Given the description of an element on the screen output the (x, y) to click on. 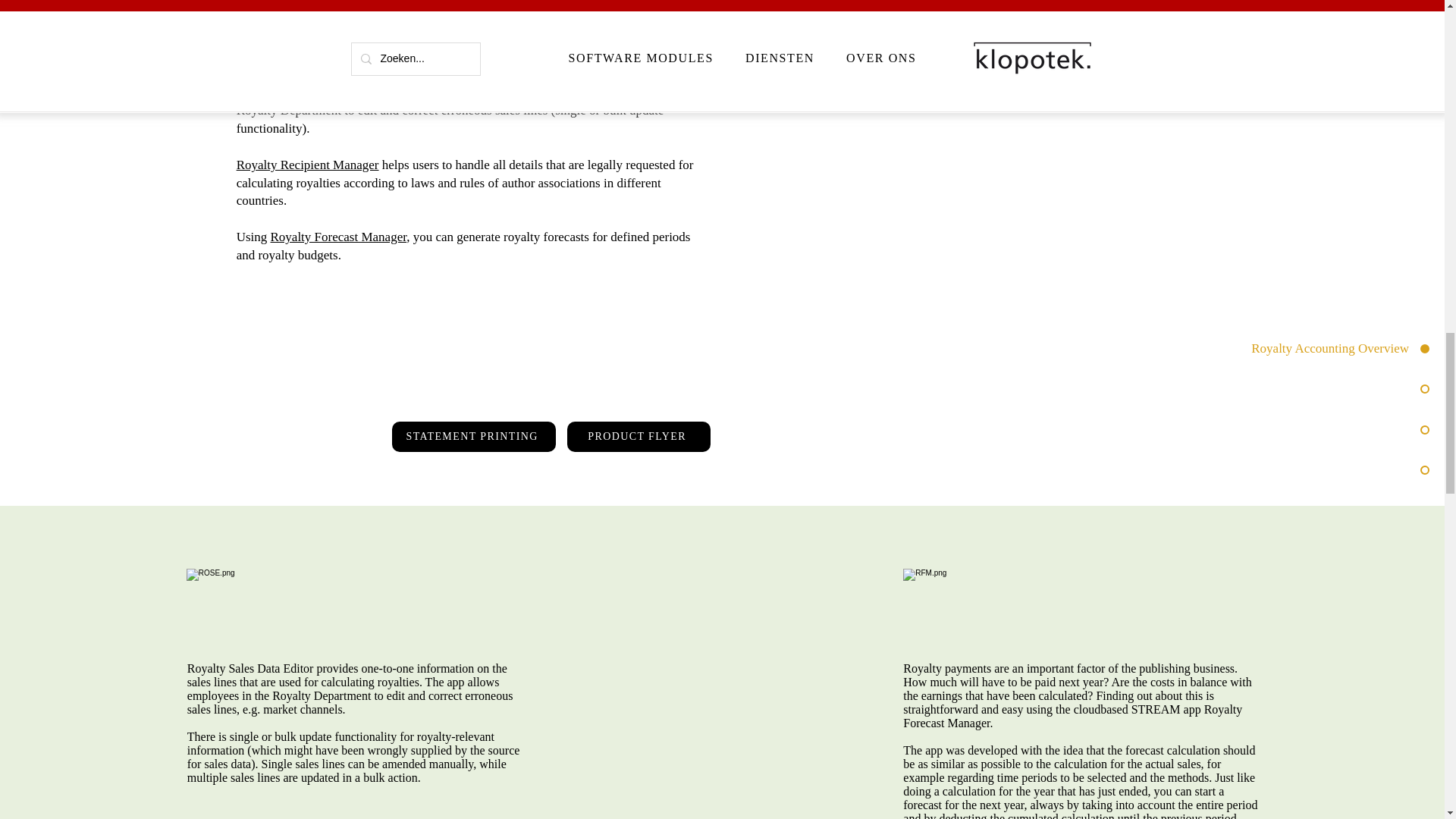
Royalty Recipient Manager (306, 164)
PRODUCT FLYER (638, 436)
Royalty Sales Data Editor (502, 92)
STATEMENT PRINTING (473, 436)
Royalty Forecast Manager (337, 237)
